Given the description of an element on the screen output the (x, y) to click on. 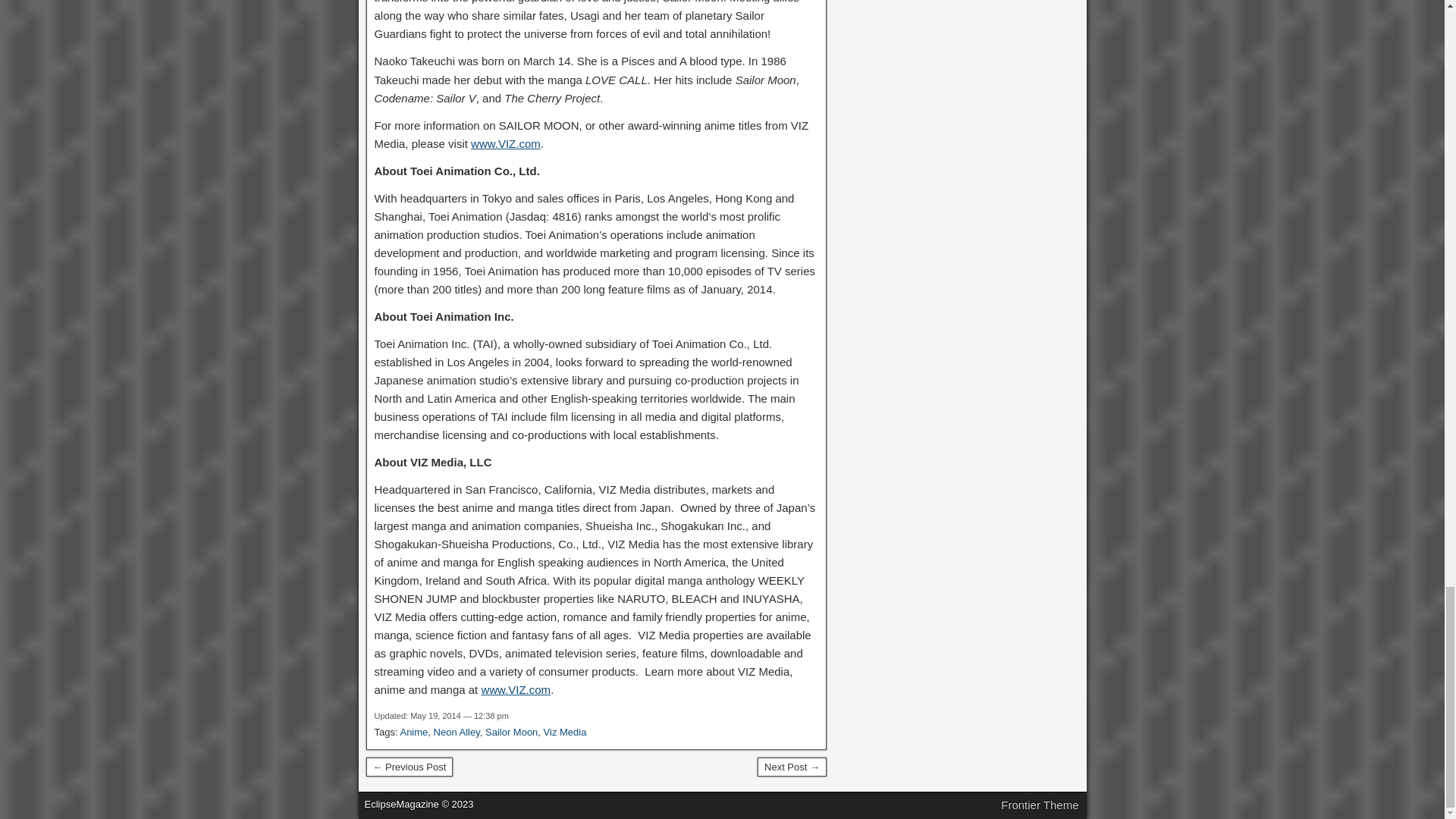
Neon Alley (456, 731)
Sailor Moon (510, 731)
Anime (413, 731)
www.VIZ.com (505, 143)
Hot Trailer: Foxcatcher! (792, 767)
Viz Media (564, 731)
www.VIZ.com (515, 689)
